Given the description of an element on the screen output the (x, y) to click on. 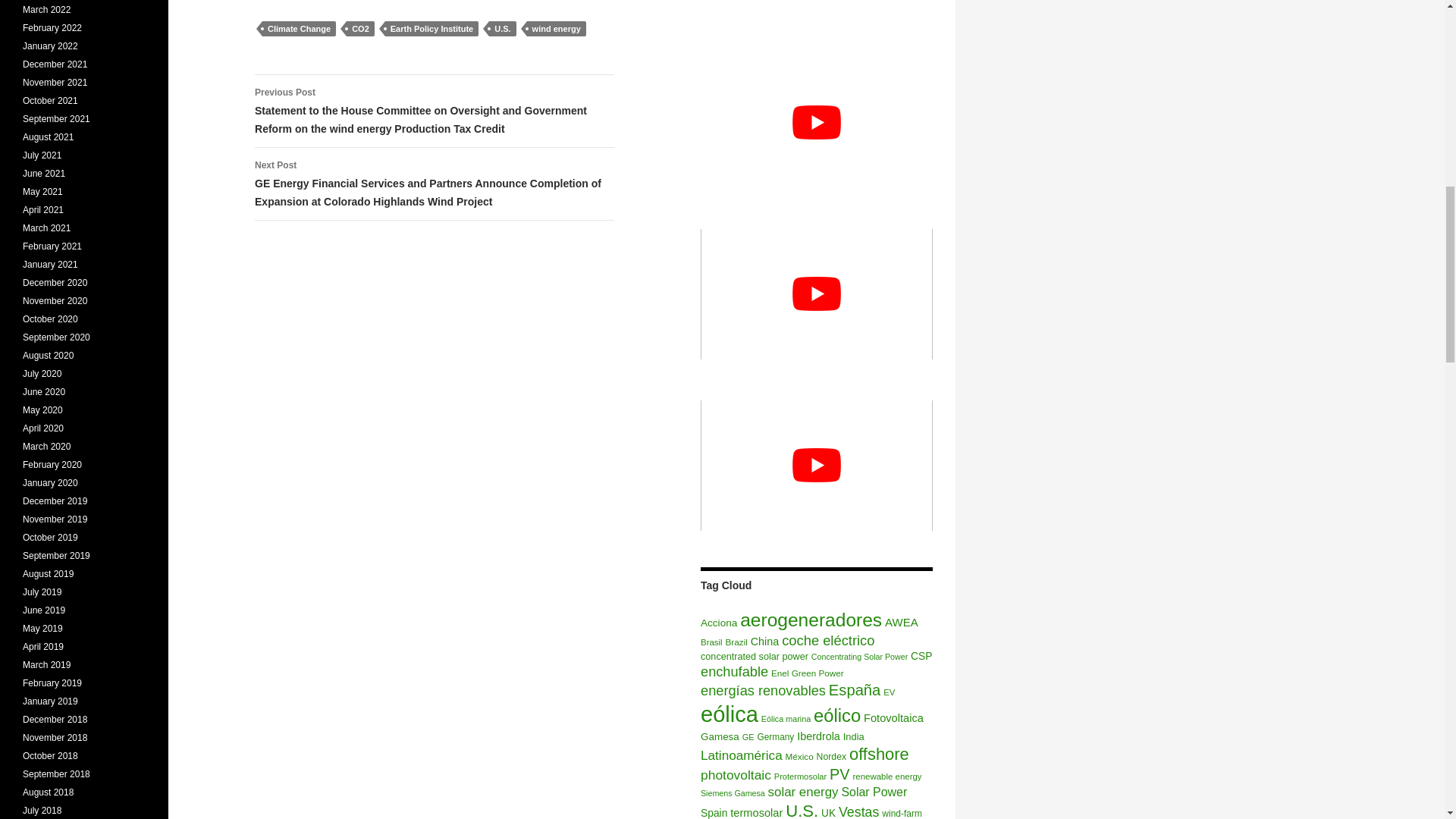
Climate Change (299, 28)
Earth Policy Institute (432, 28)
CO2 (360, 28)
U.S. (502, 28)
wind energy (556, 28)
